Given the description of an element on the screen output the (x, y) to click on. 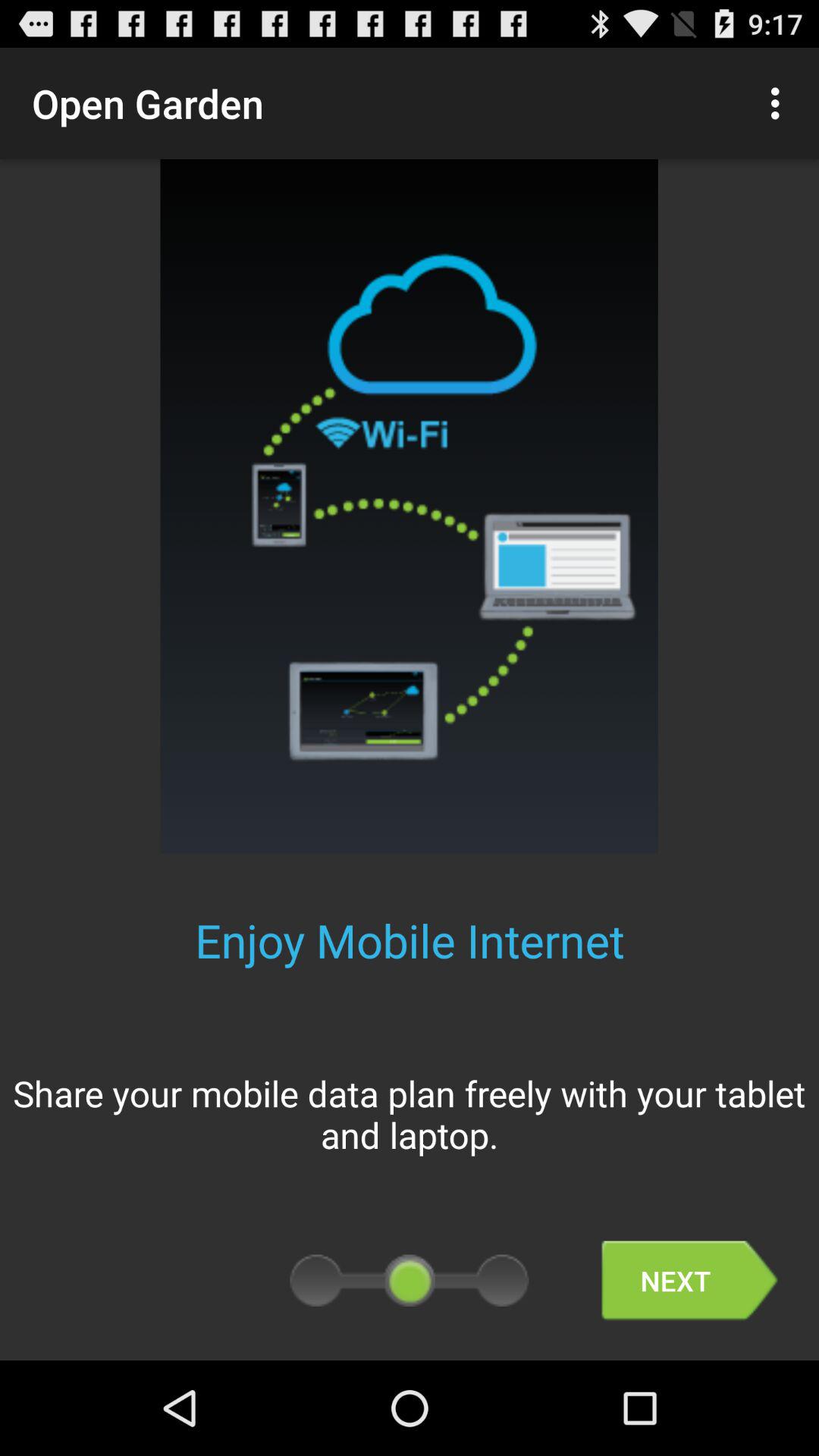
swipe to the next icon (689, 1280)
